Given the description of an element on the screen output the (x, y) to click on. 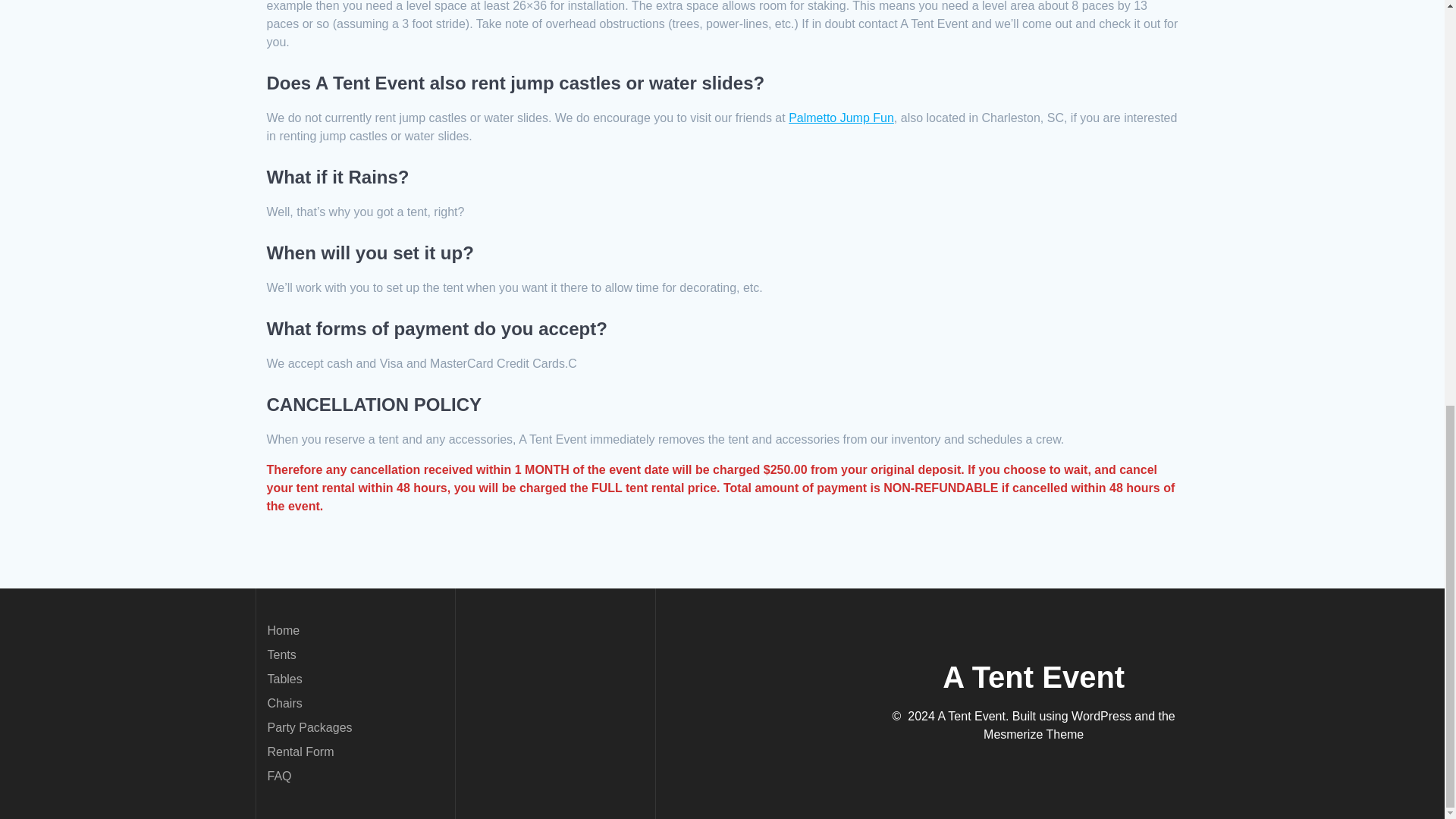
Mesmerize Theme (1033, 734)
Tables (283, 678)
Palmetto Jump Fun (841, 117)
Tents (280, 654)
Rental Form (299, 751)
Chairs (283, 703)
Party Packages (309, 727)
Home (282, 630)
FAQ (278, 775)
